Given the description of an element on the screen output the (x, y) to click on. 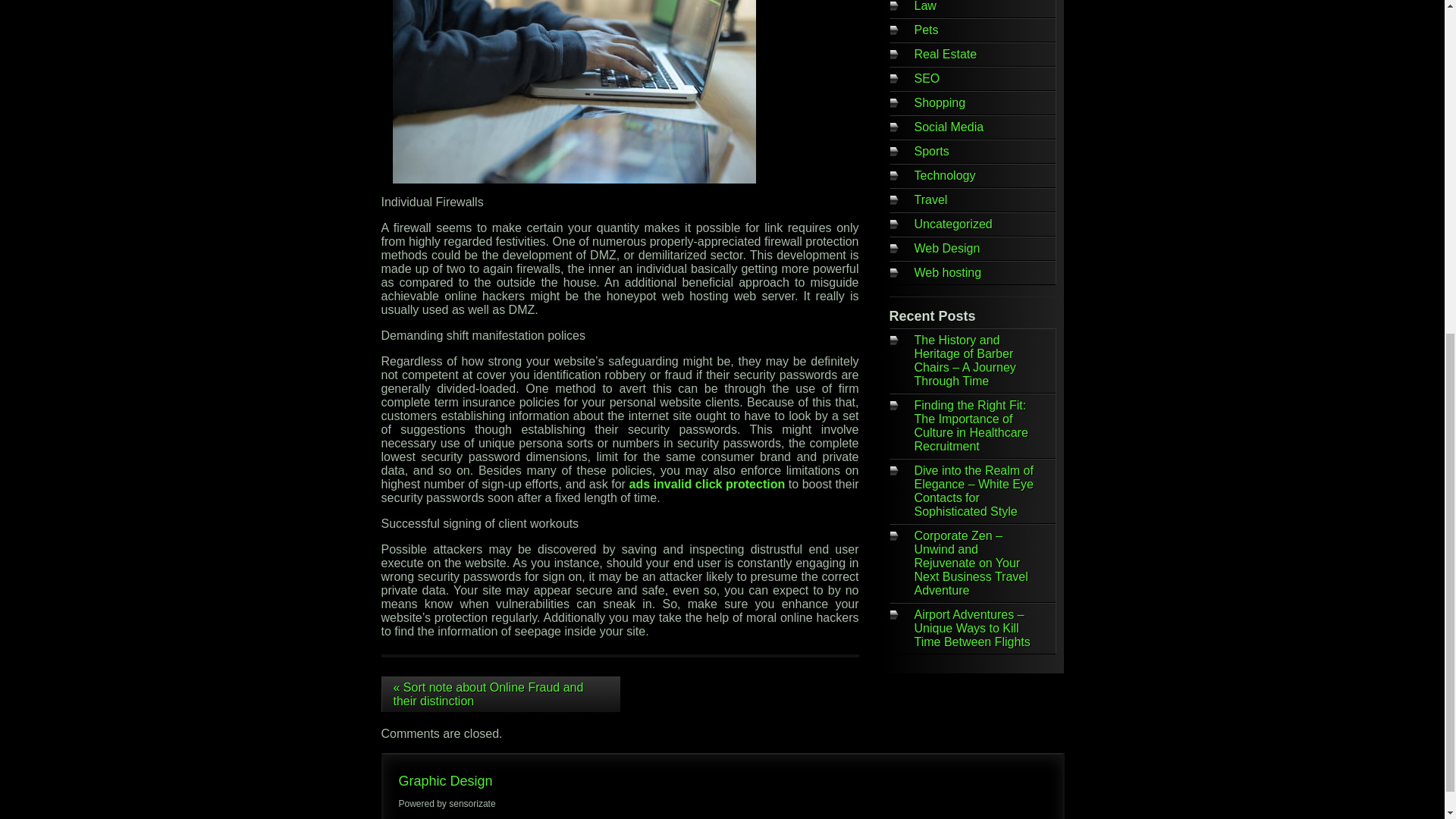
Web Design (946, 247)
Travel (930, 199)
Graphic Design (445, 781)
ads invalid click protection (707, 483)
Shopping (940, 102)
Pets (926, 29)
Sports (931, 151)
SEO (927, 78)
Graphic Design (445, 781)
Technology (944, 174)
Social Media (949, 126)
Web hosting (947, 272)
Real Estate (945, 53)
Law (925, 6)
